Given the description of an element on the screen output the (x, y) to click on. 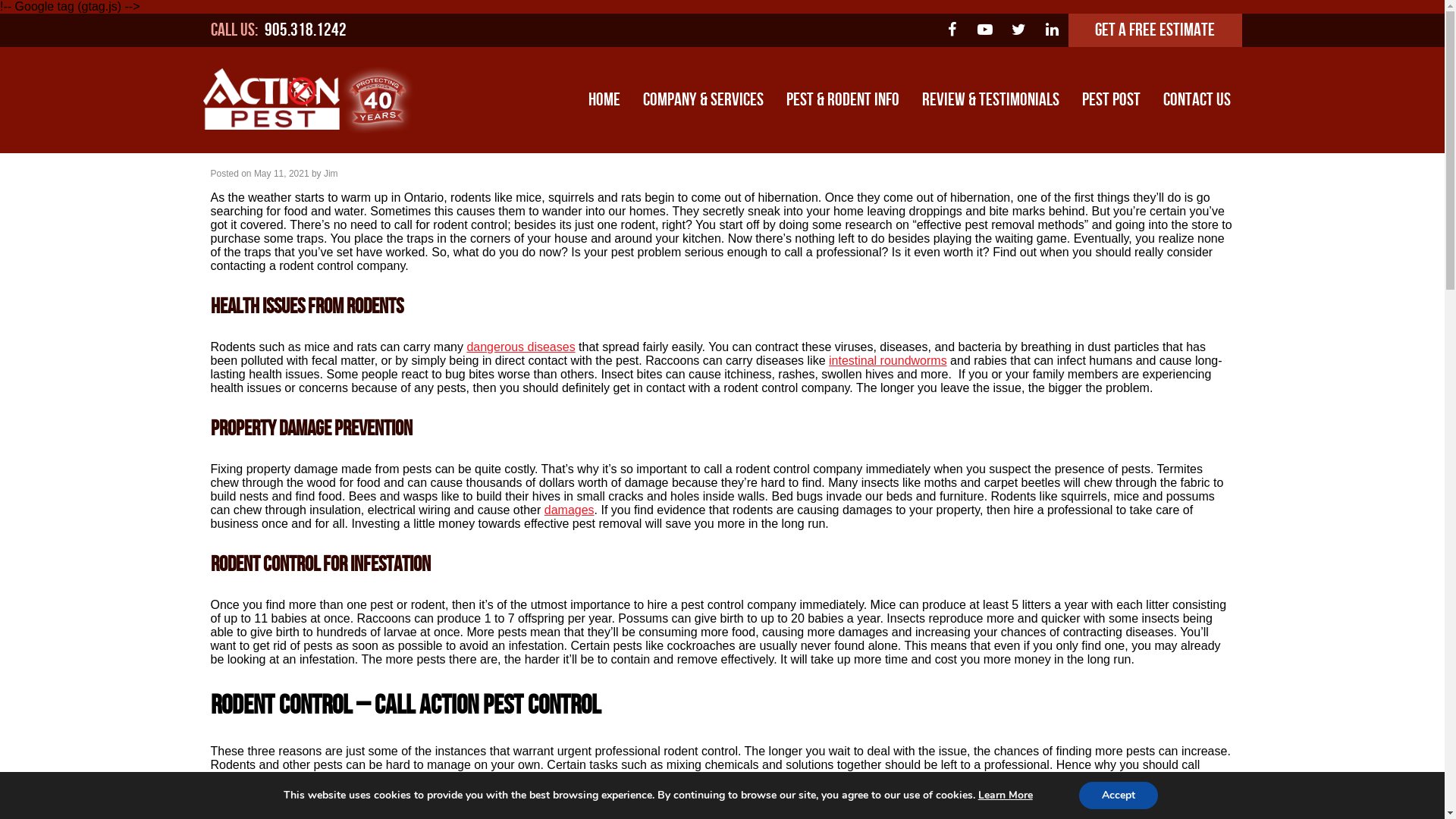
damages Element type: text (569, 509)
dangerous diseases Element type: text (520, 346)
GET A FREE ESTIMATE Element type: text (1154, 30)
Facebook Element type: hover (951, 30)
Accept Element type: text (1118, 795)
Pest Post Element type: text (1110, 100)
intestinal roundworms Element type: text (887, 360)
Action Pest Control Element type: text (870, 805)
Home Element type: text (603, 100)
905.318.1242 Element type: text (304, 29)
Pest & Rodent Info Element type: text (842, 100)
LinkedIn Element type: hover (1051, 30)
Review & Testimonials Element type: text (990, 100)
Contact Us Element type: text (1196, 100)
Company & Services Element type: text (702, 100)
Twitter Element type: hover (1018, 30)
YouTube Element type: hover (984, 30)
Learn More Element type: text (1005, 794)
